Given the description of an element on the screen output the (x, y) to click on. 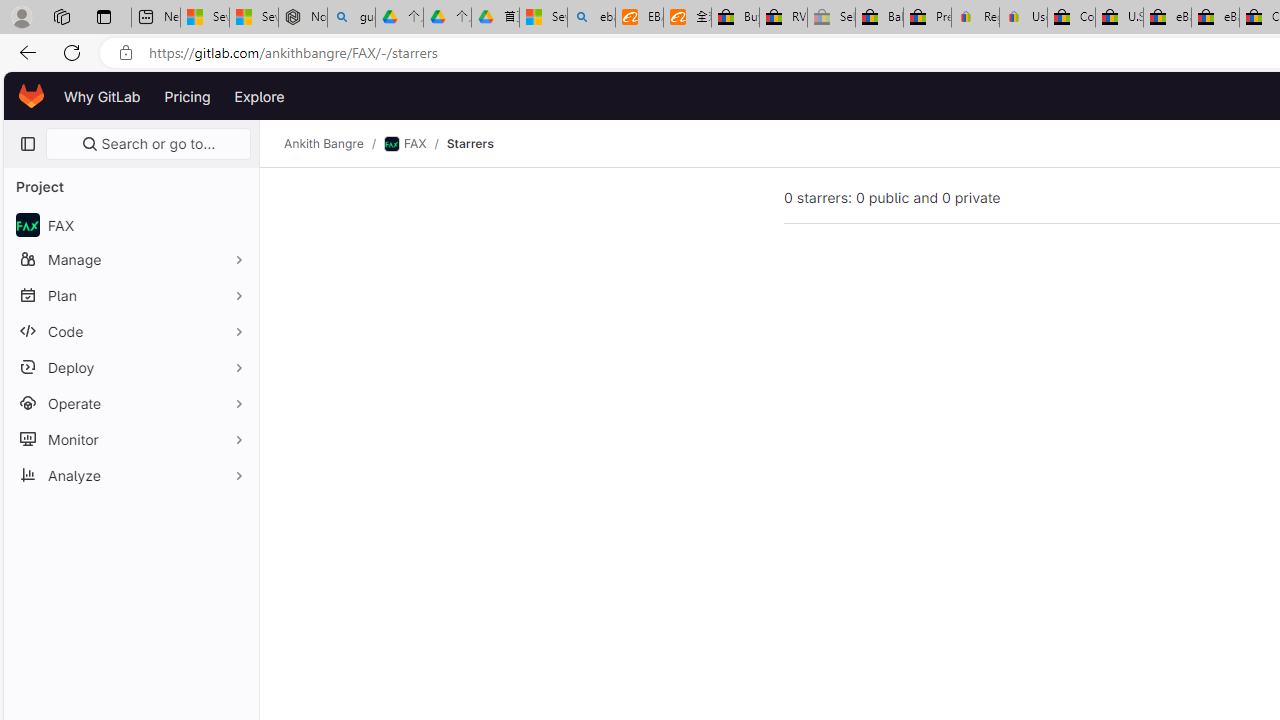
Plan (130, 295)
User Privacy Notice | eBay (1023, 17)
Back (24, 52)
View site information (125, 53)
Why GitLab (102, 95)
Buy Auto Parts & Accessories | eBay (735, 17)
Manage (130, 259)
Explore (259, 95)
Code (130, 331)
Ankith Bangre/ (334, 143)
FAX (404, 143)
Starrers (469, 143)
Primary navigation sidebar (27, 143)
